Given the description of an element on the screen output the (x, y) to click on. 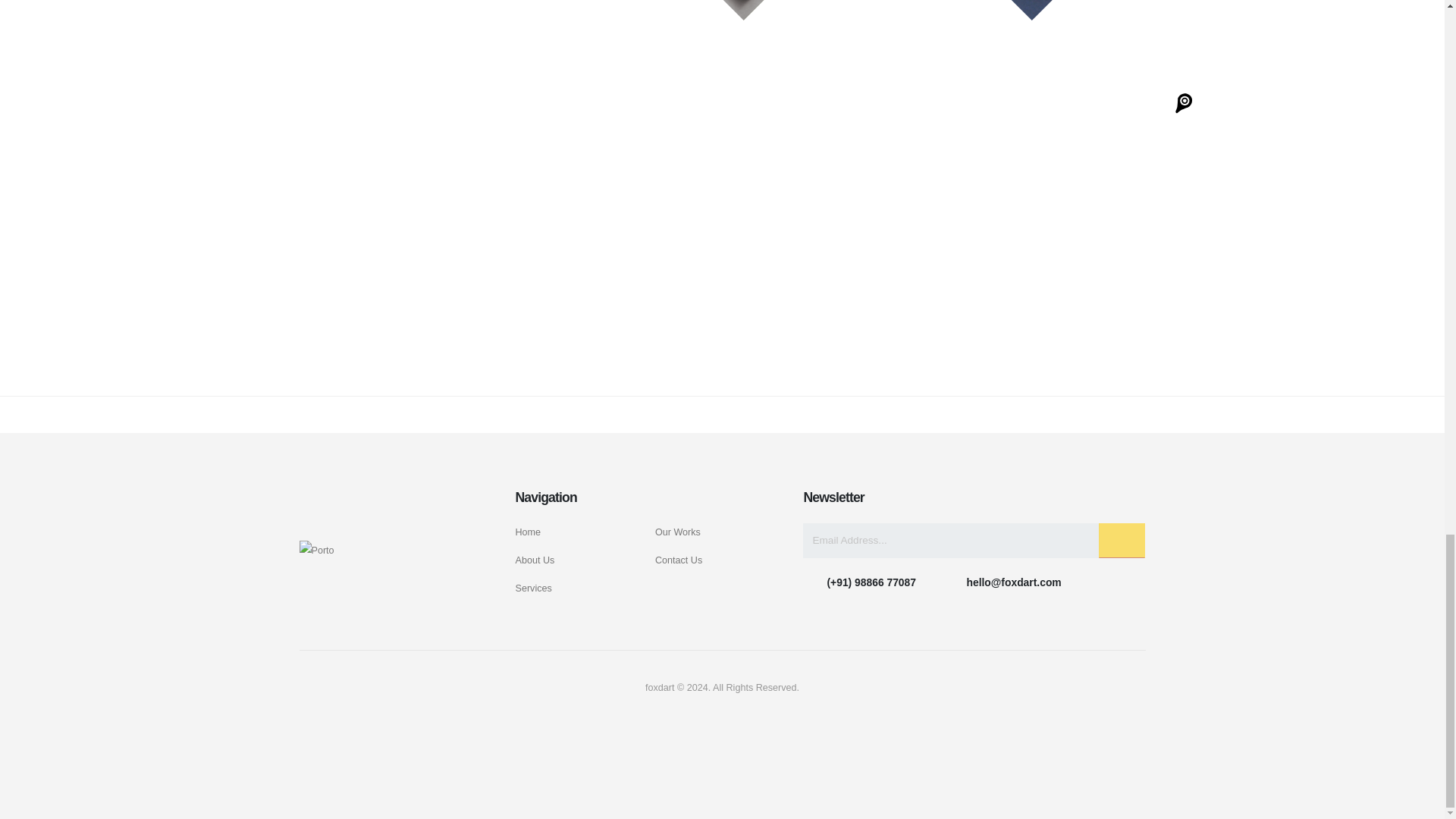
Our Works (677, 532)
Home (527, 532)
About Us (534, 560)
Contact Us (678, 560)
Services (533, 588)
